Given the description of an element on the screen output the (x, y) to click on. 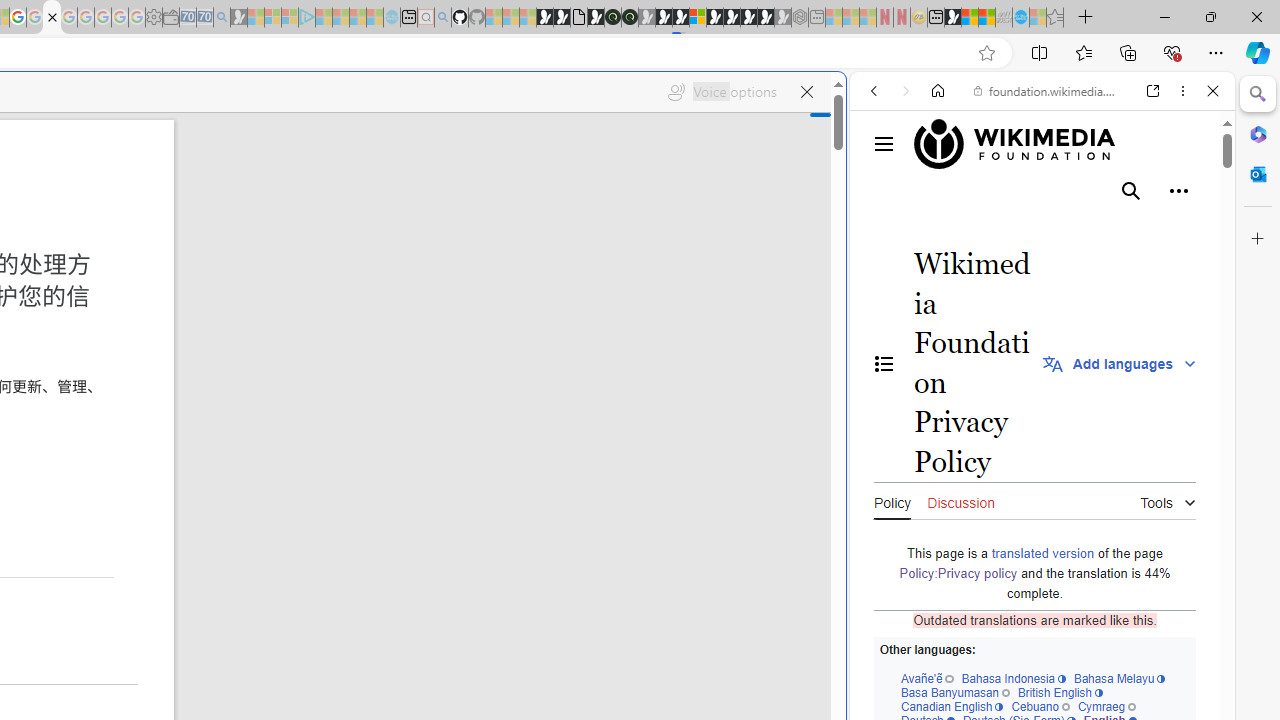
Earth has six continents not seven, radical new study claims (986, 17)
Bahasa Indonesia (1013, 678)
